Given the description of an element on the screen output the (x, y) to click on. 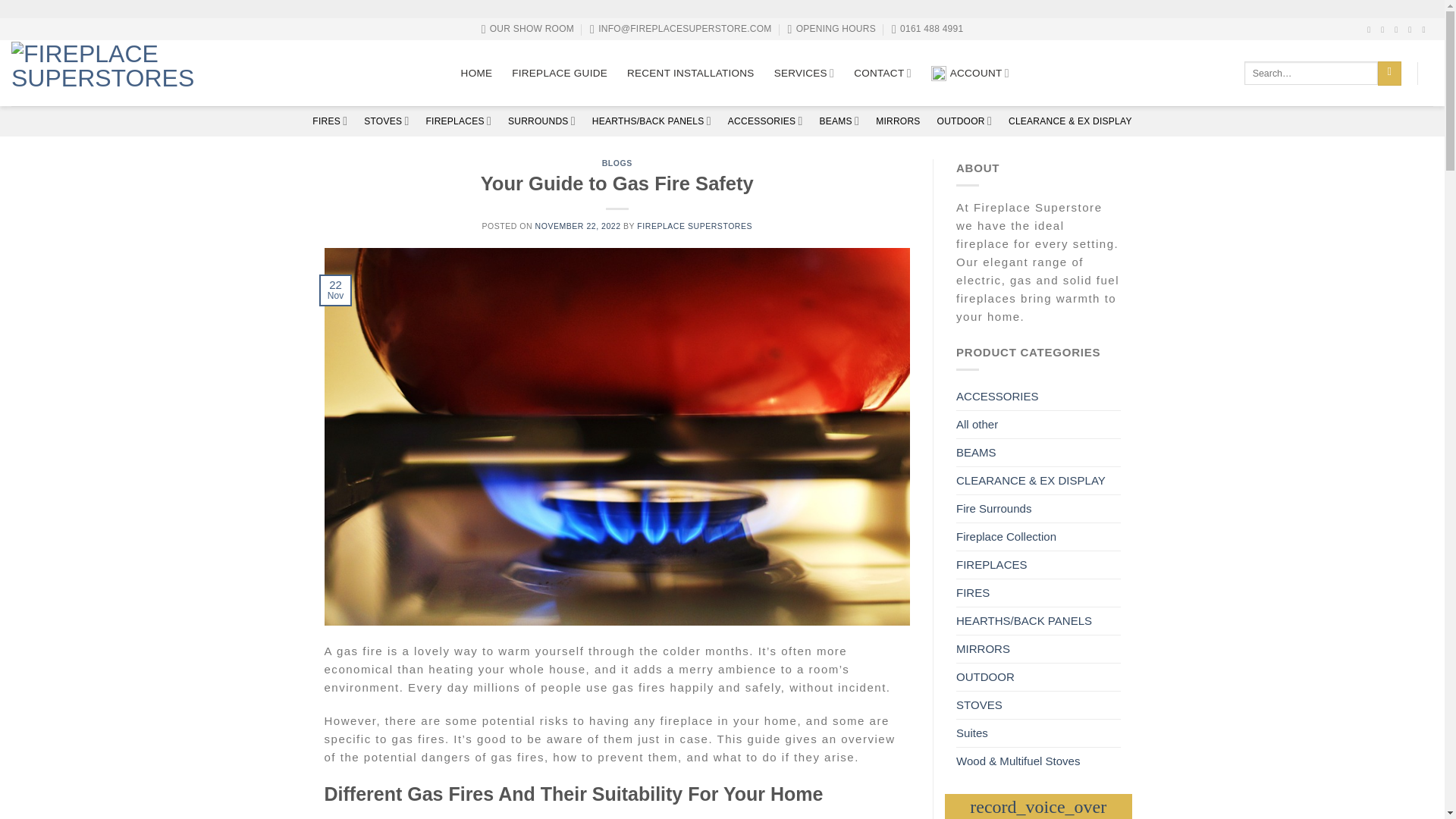
Follow on Instagram (1384, 29)
FIREPLACE GUIDE (559, 72)
OUR SHOW ROOM (527, 29)
0161 488 4991 (926, 29)
ACCOUNT (972, 73)
Follow on Twitter (1398, 29)
FIRES (330, 120)
HOME (477, 72)
Search (1388, 73)
SERVICES (804, 72)
Subscribe to RSS (1425, 29)
CONTACT (882, 72)
Follow on Pinterest (1411, 29)
